Given the description of an element on the screen output the (x, y) to click on. 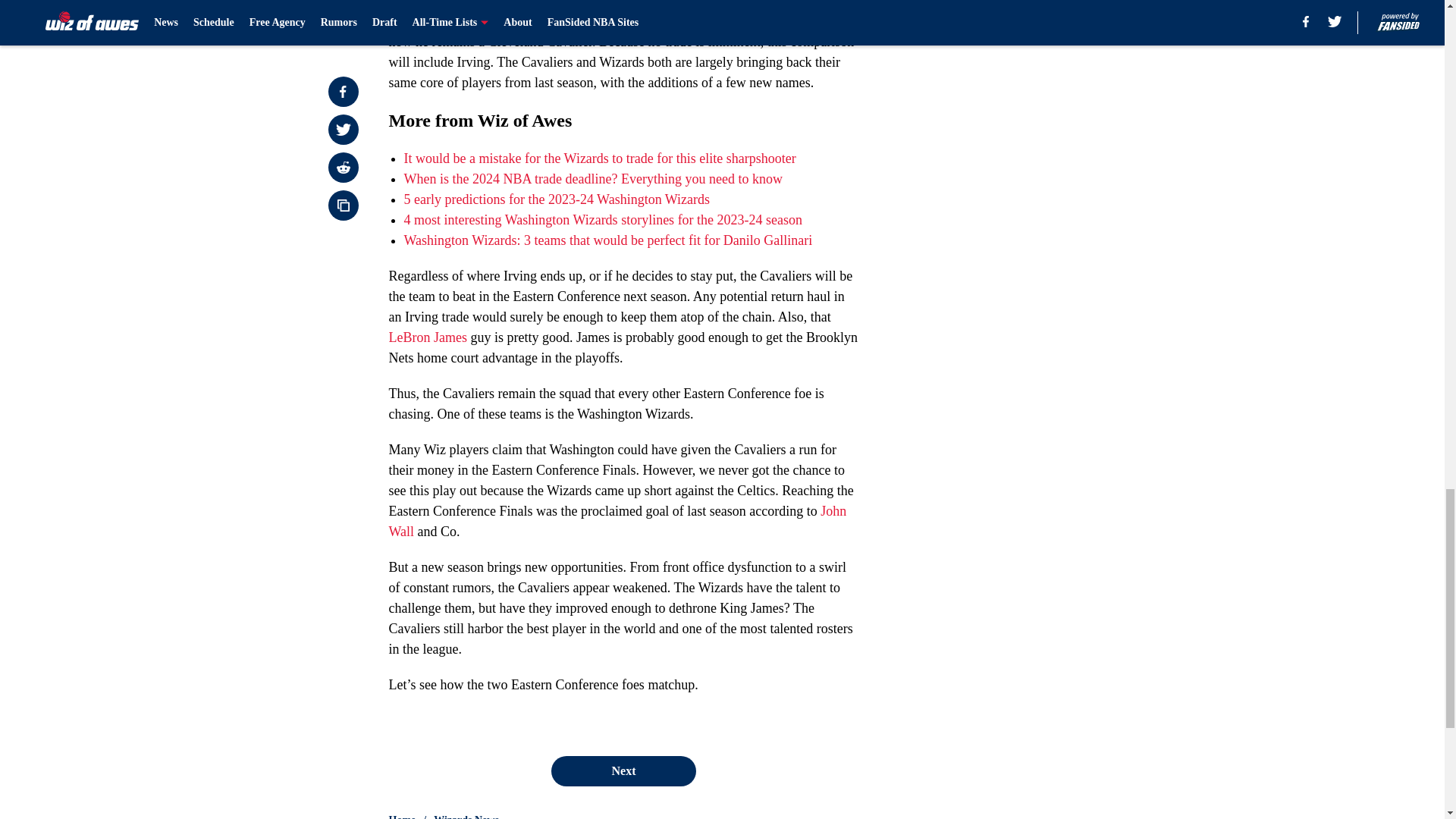
5 early predictions for the 2023-24 Washington Wizards (556, 199)
John Wall (616, 520)
Wizards News (466, 816)
LeBron James (426, 337)
Kyrie Irving (421, 20)
Next (622, 770)
Home (401, 816)
